Given the description of an element on the screen output the (x, y) to click on. 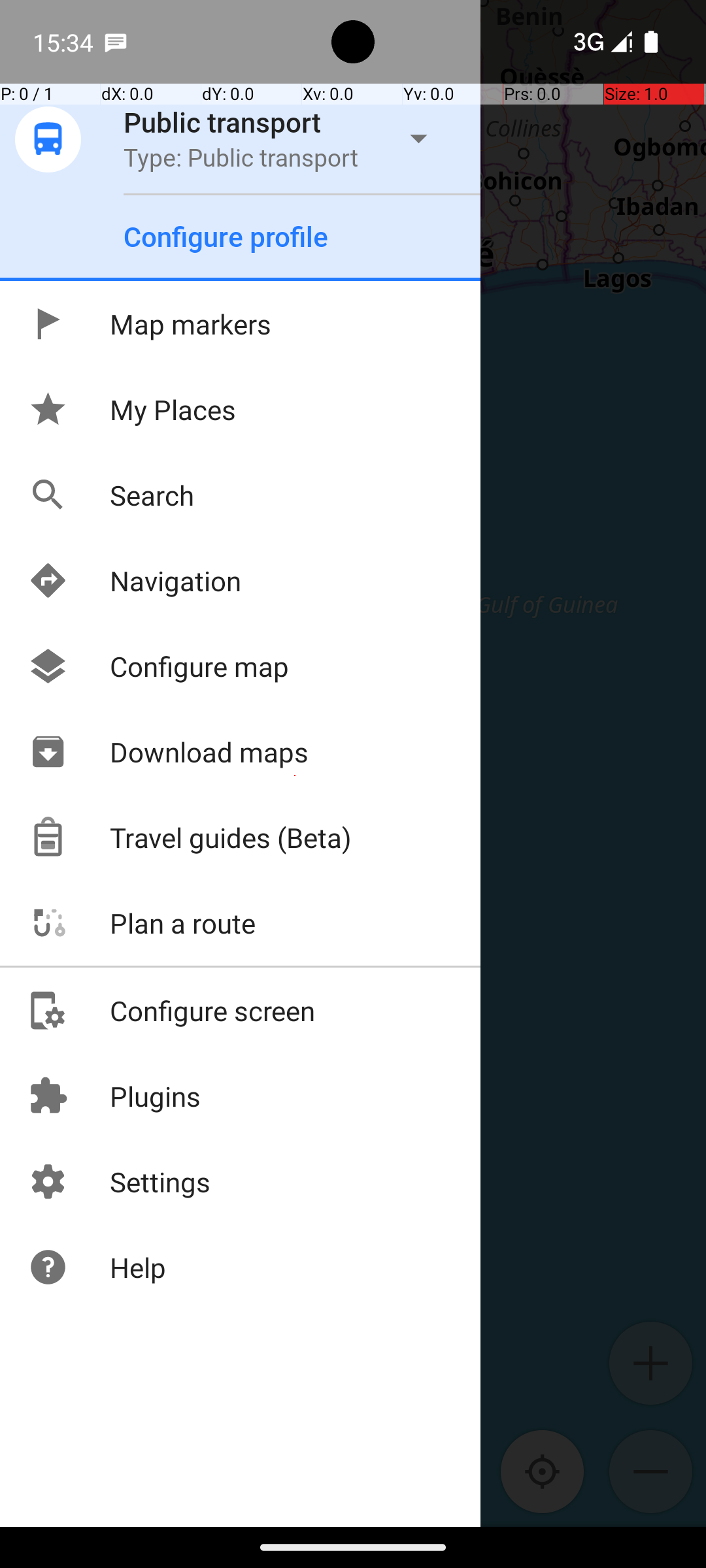
Public transport Element type: android.widget.TextView (222, 121)
Type: Public transport Element type: android.widget.TextView (240, 156)
Configure profile Element type: android.widget.TextView (225, 235)
Map markers Element type: android.widget.TextView (149, 323)
My Places Element type: android.widget.TextView (131, 409)
Navigation Element type: android.widget.TextView (134, 580)
Download maps Element type: android.widget.TextView (168, 751)
Travel guides (Beta) Element type: android.widget.TextView (189, 837)
Plan a route Element type: android.widget.TextView (141, 922)
Configure screen Element type: android.widget.TextView (171, 1010)
Plugins Element type: android.widget.TextView (114, 1095)
Help Element type: android.widget.TextView (96, 1266)
